Given the description of an element on the screen output the (x, y) to click on. 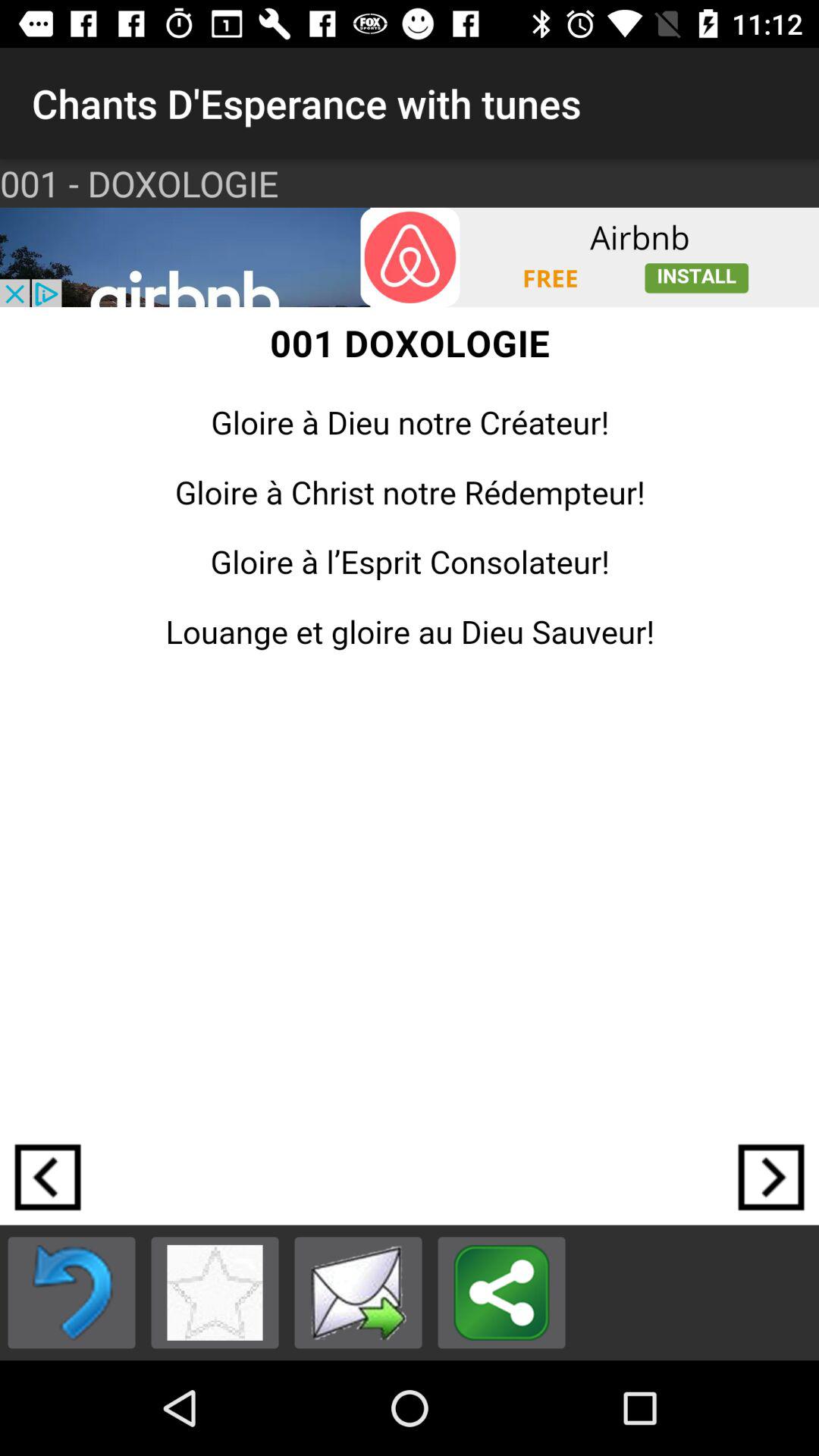
clicar na seta da direita (771, 1177)
